Given the description of an element on the screen output the (x, y) to click on. 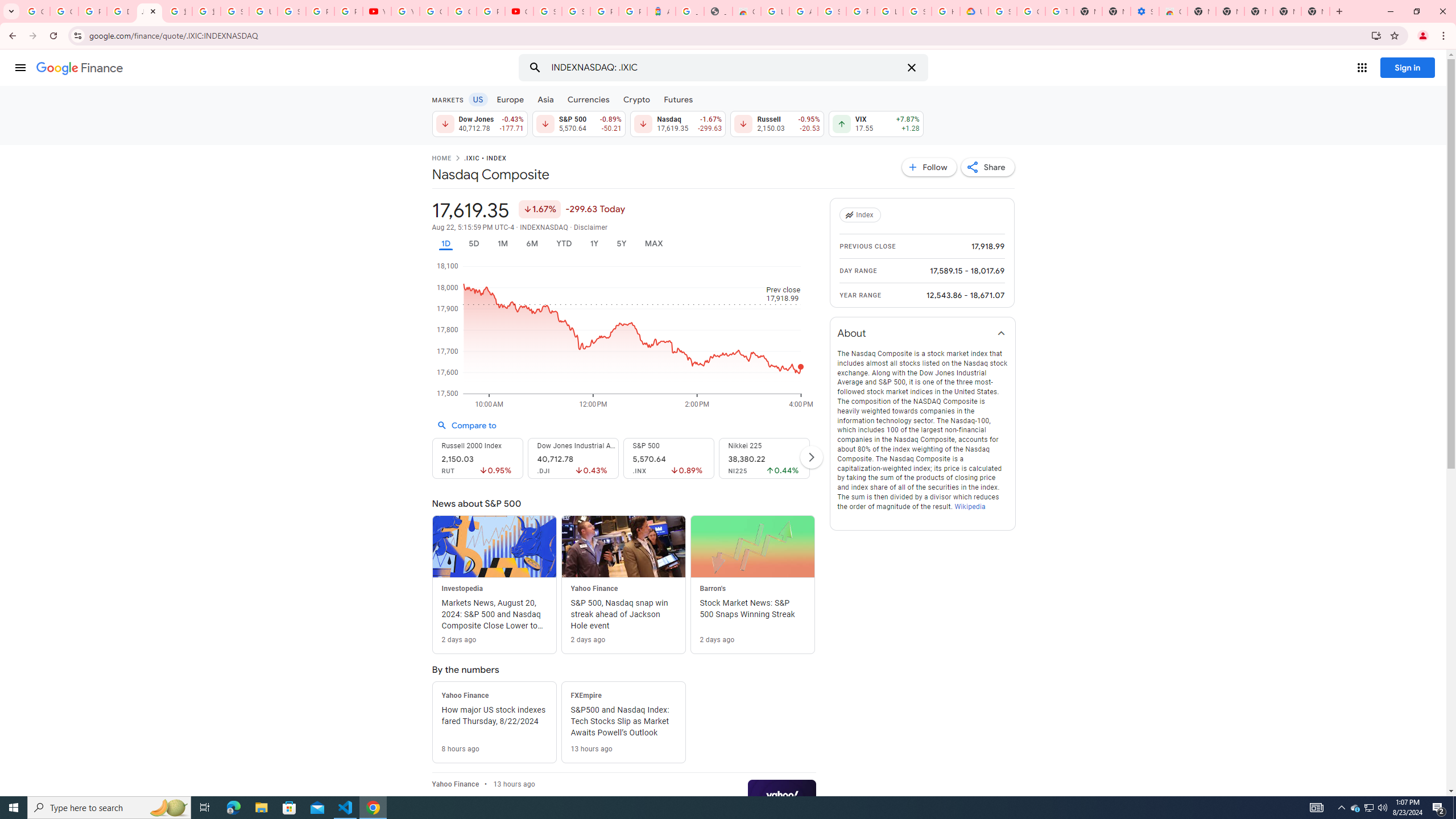
6M (531, 243)
Follow (929, 167)
Futures (678, 99)
Sign in - Google Accounts (575, 11)
